Given the description of an element on the screen output the (x, y) to click on. 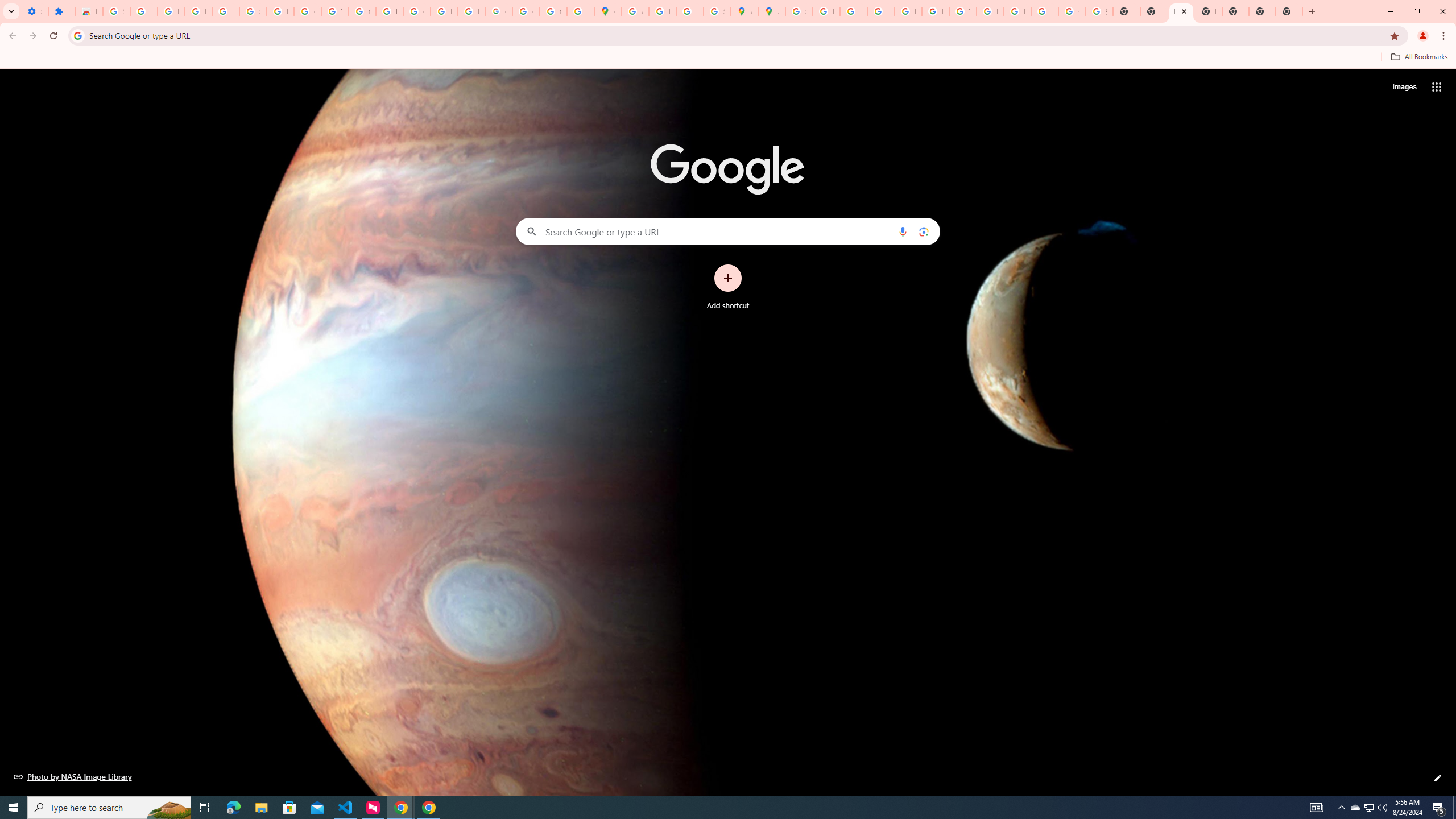
Bookmarks (728, 58)
Delete photos & videos - Computer - Google Photos Help (170, 11)
Extensions (61, 11)
Privacy Help Center - Policies Help (880, 11)
Search Google or type a URL (727, 230)
Safety in Our Products - Google Safety Center (716, 11)
https://scholar.google.com/ (389, 11)
Search by voice (902, 230)
